Given the description of an element on the screen output the (x, y) to click on. 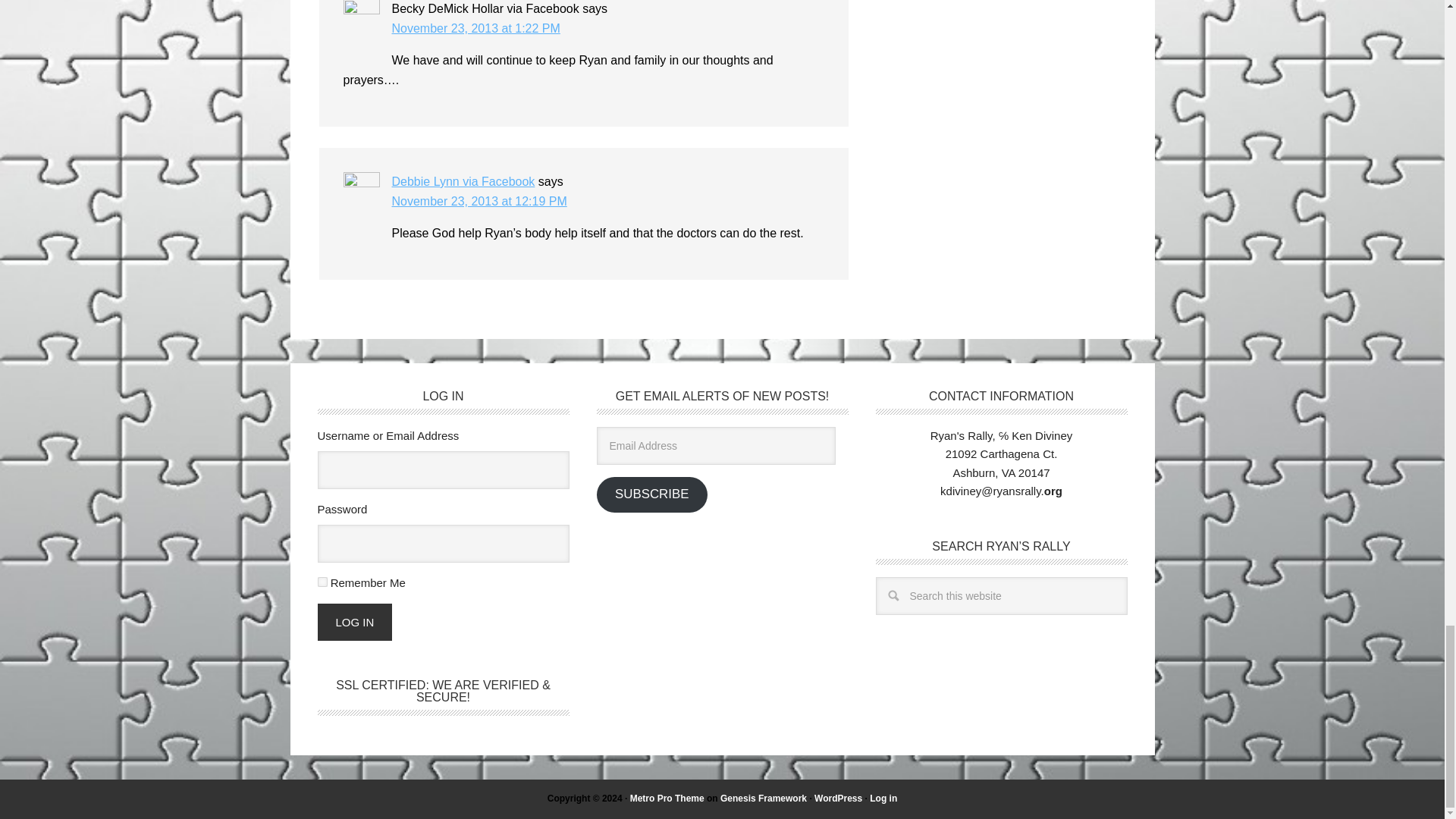
forever (321, 582)
